Given the description of an element on the screen output the (x, y) to click on. 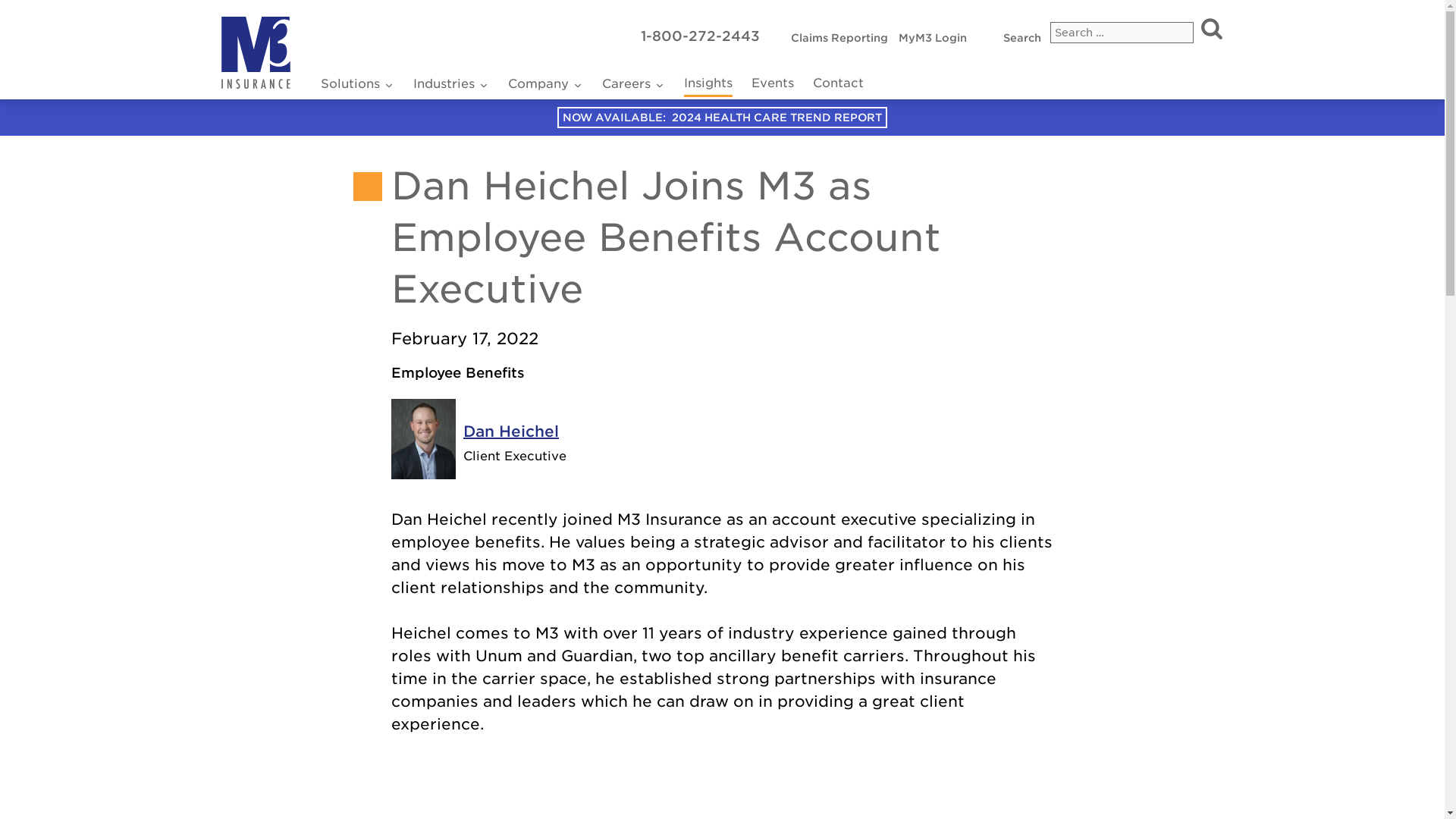
Claims Reporting (545, 85)
MyM3 Login (839, 37)
search (932, 37)
1-800-272-2443 (1209, 29)
